Given the description of an element on the screen output the (x, y) to click on. 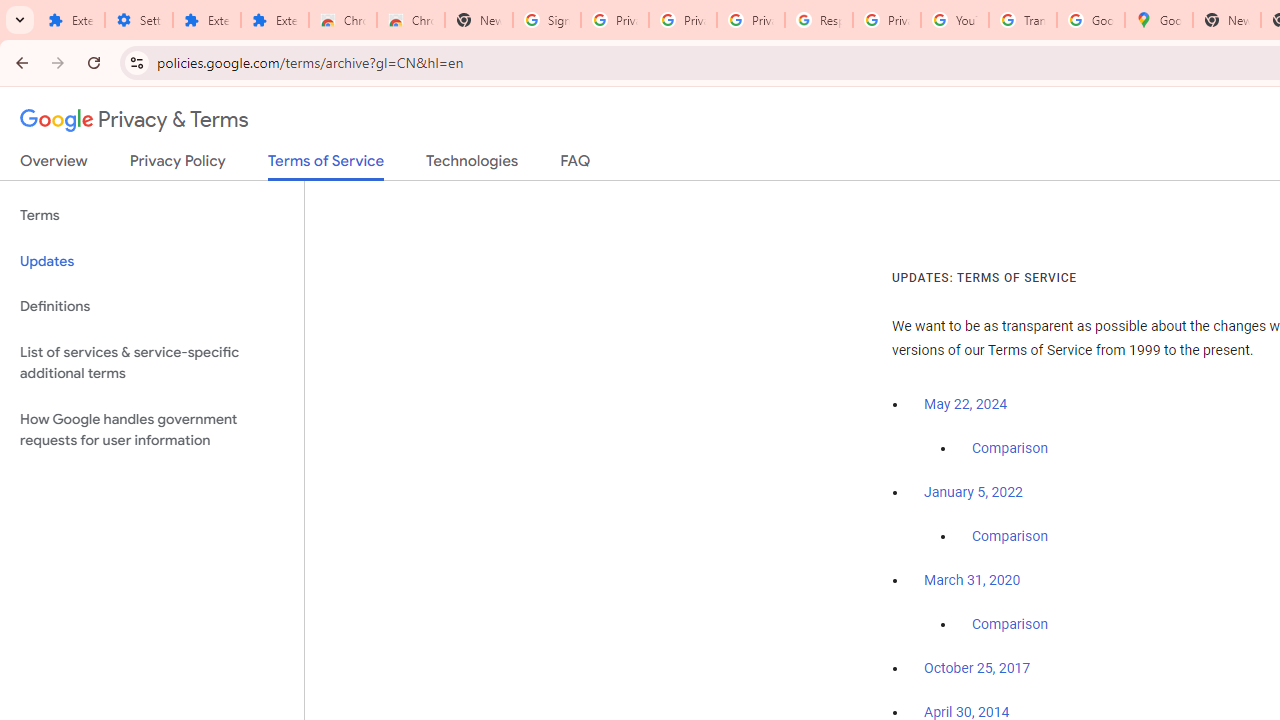
YouTube (954, 20)
October 25, 2017 (977, 669)
Google Maps (1158, 20)
May 22, 2024 (966, 404)
Definitions (152, 306)
New Tab (1226, 20)
Comparison (1009, 625)
Extensions (206, 20)
Privacy Policy (177, 165)
